Given the description of an element on the screen output the (x, y) to click on. 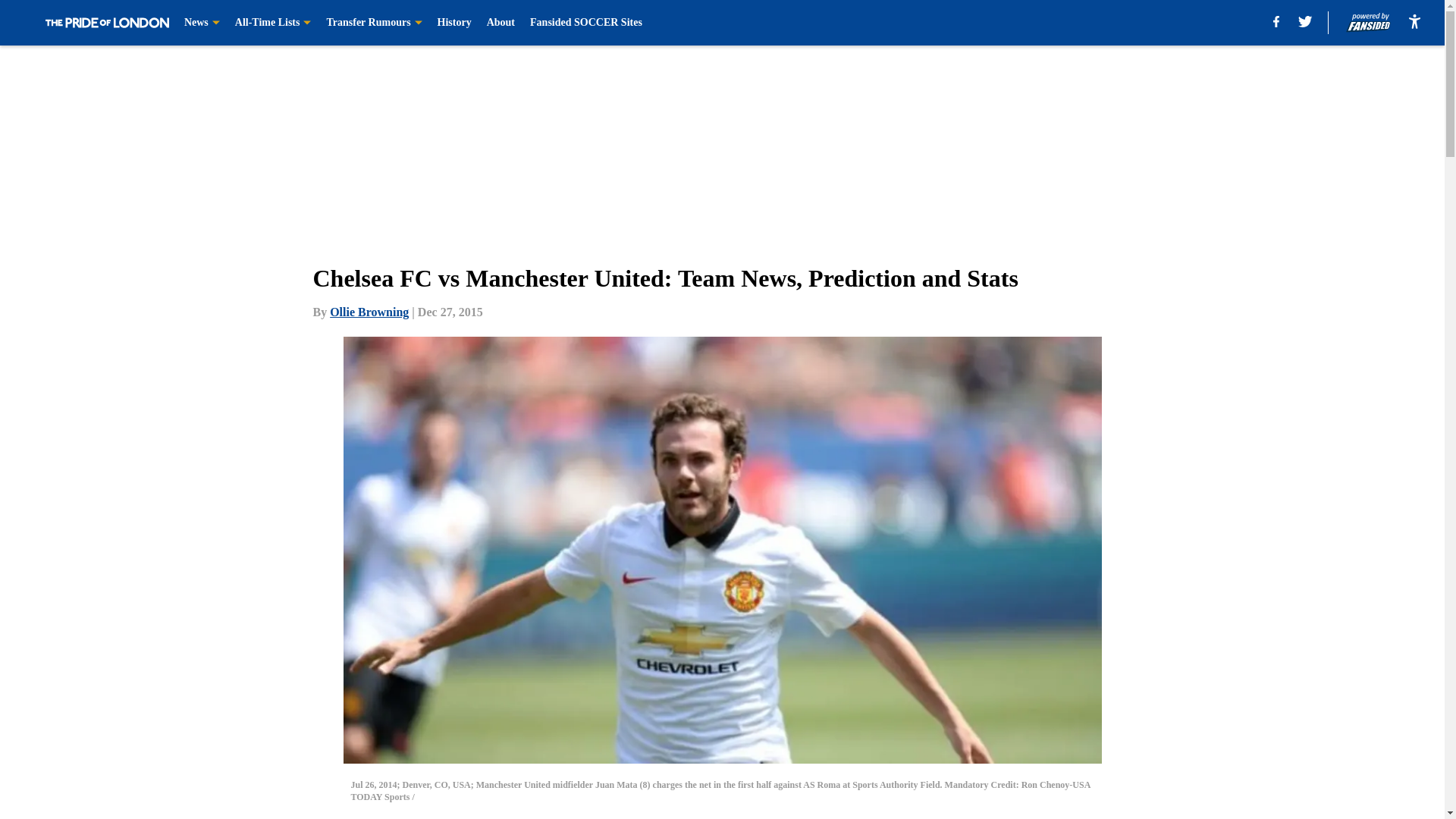
Fansided SOCCER Sites (585, 22)
About (500, 22)
History (454, 22)
Ollie Browning (369, 311)
